Given the description of an element on the screen output the (x, y) to click on. 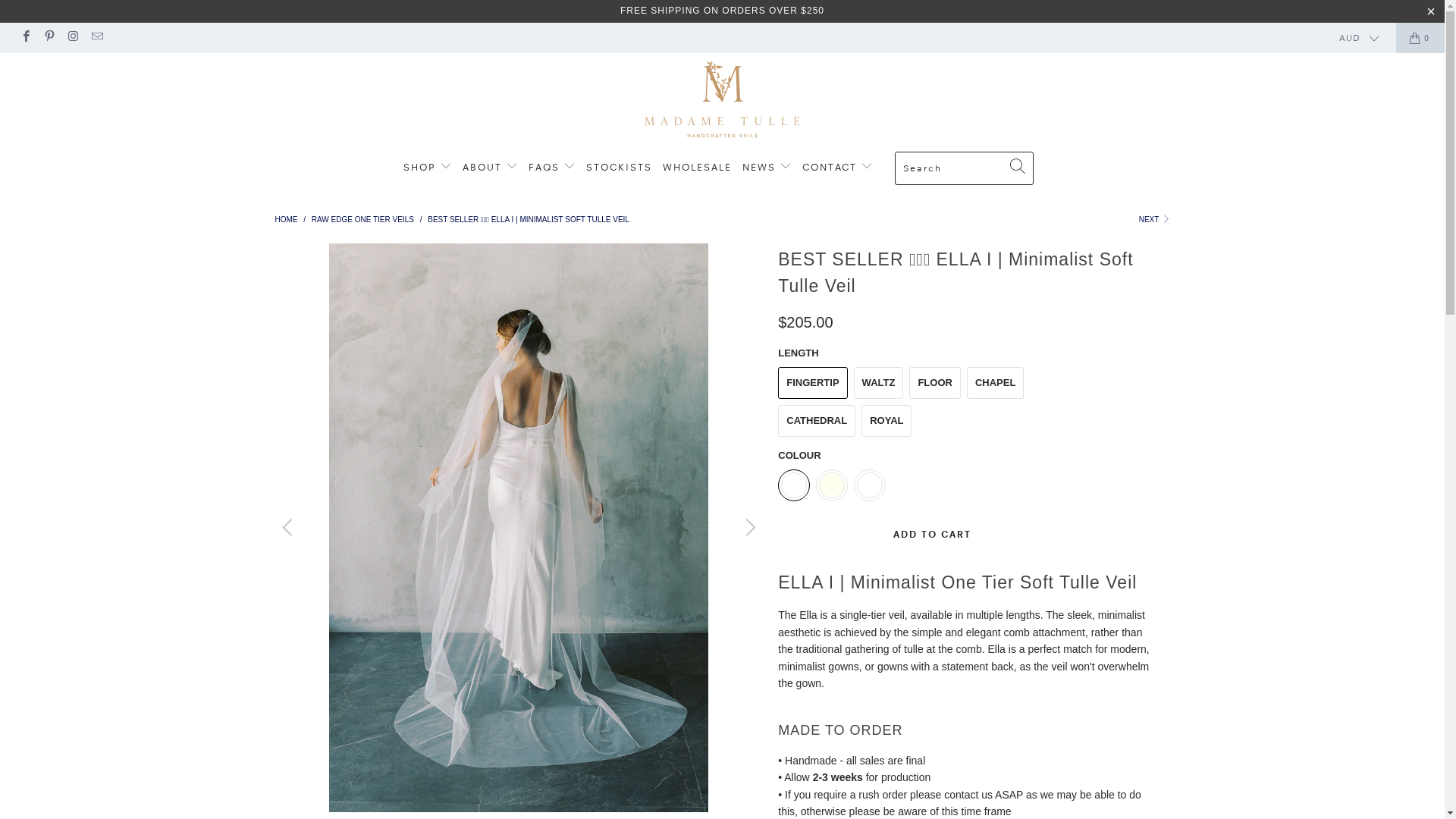
SHOP Element type: text (427, 165)
Madame Tulle on Instagram Element type: hover (71, 37)
CONTACT Element type: text (837, 165)
Madame Tulle on Facebook Element type: hover (24, 37)
ADD TO CART Element type: text (931, 534)
Madame Tulle on Pinterest Element type: hover (48, 37)
NEWS Element type: text (766, 165)
NEXT Element type: text (1154, 219)
WHOLESALE Element type: text (696, 166)
Madame Tulle Element type: hover (722, 99)
0 Element type: text (1420, 37)
ABOUT Element type: text (489, 165)
FAQS Element type: text (551, 165)
RAW EDGE ONE TIER VEILS Element type: text (362, 219)
Email Madame Tulle Element type: hover (95, 37)
STOCKISTS Element type: text (619, 166)
HOME Element type: text (285, 219)
